Given the description of an element on the screen output the (x, y) to click on. 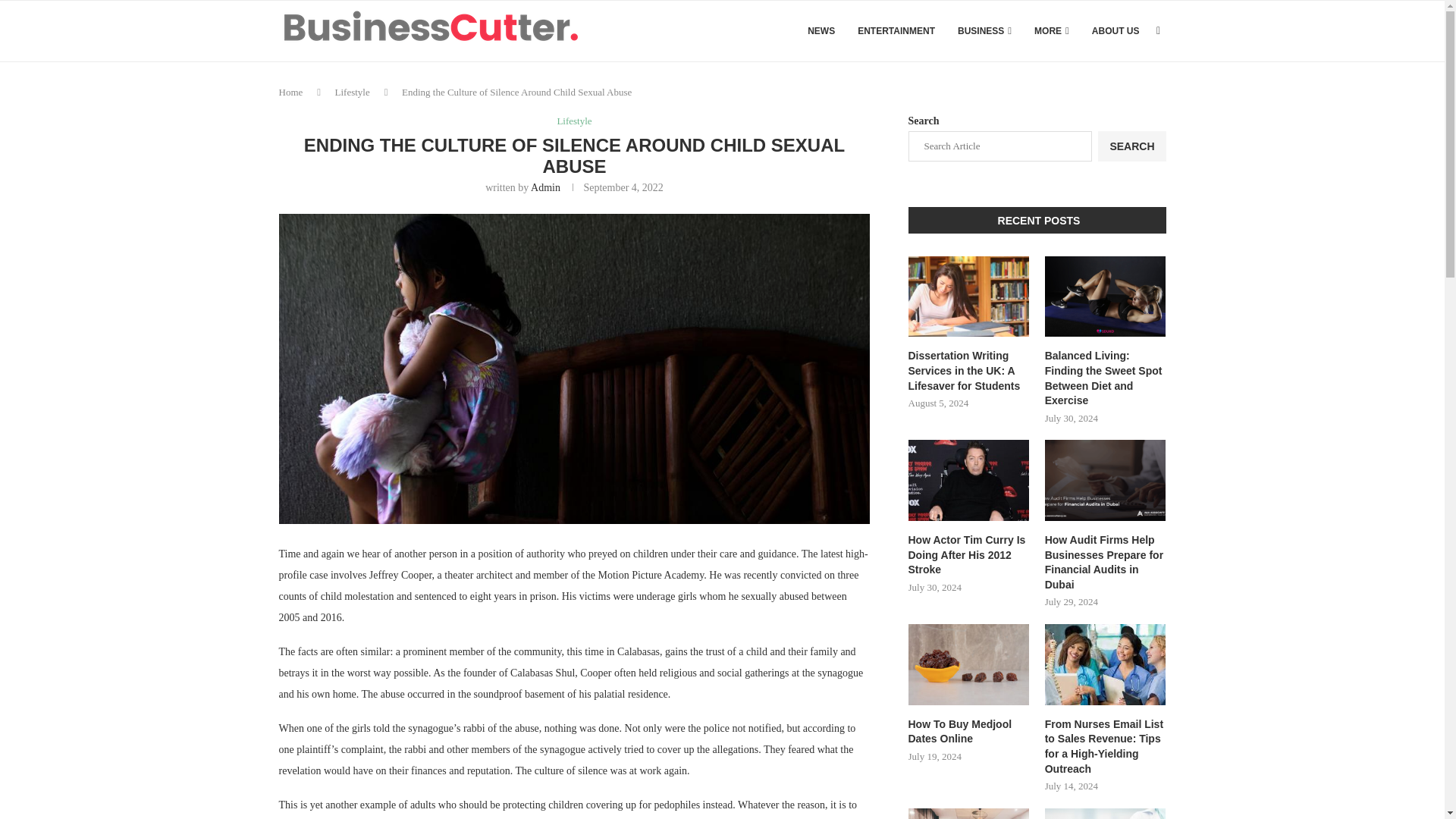
ENTERTAINMENT (895, 30)
Admin (545, 187)
Home (290, 91)
Lifestyle (573, 121)
Lifestyle (351, 91)
